Given the description of an element on the screen output the (x, y) to click on. 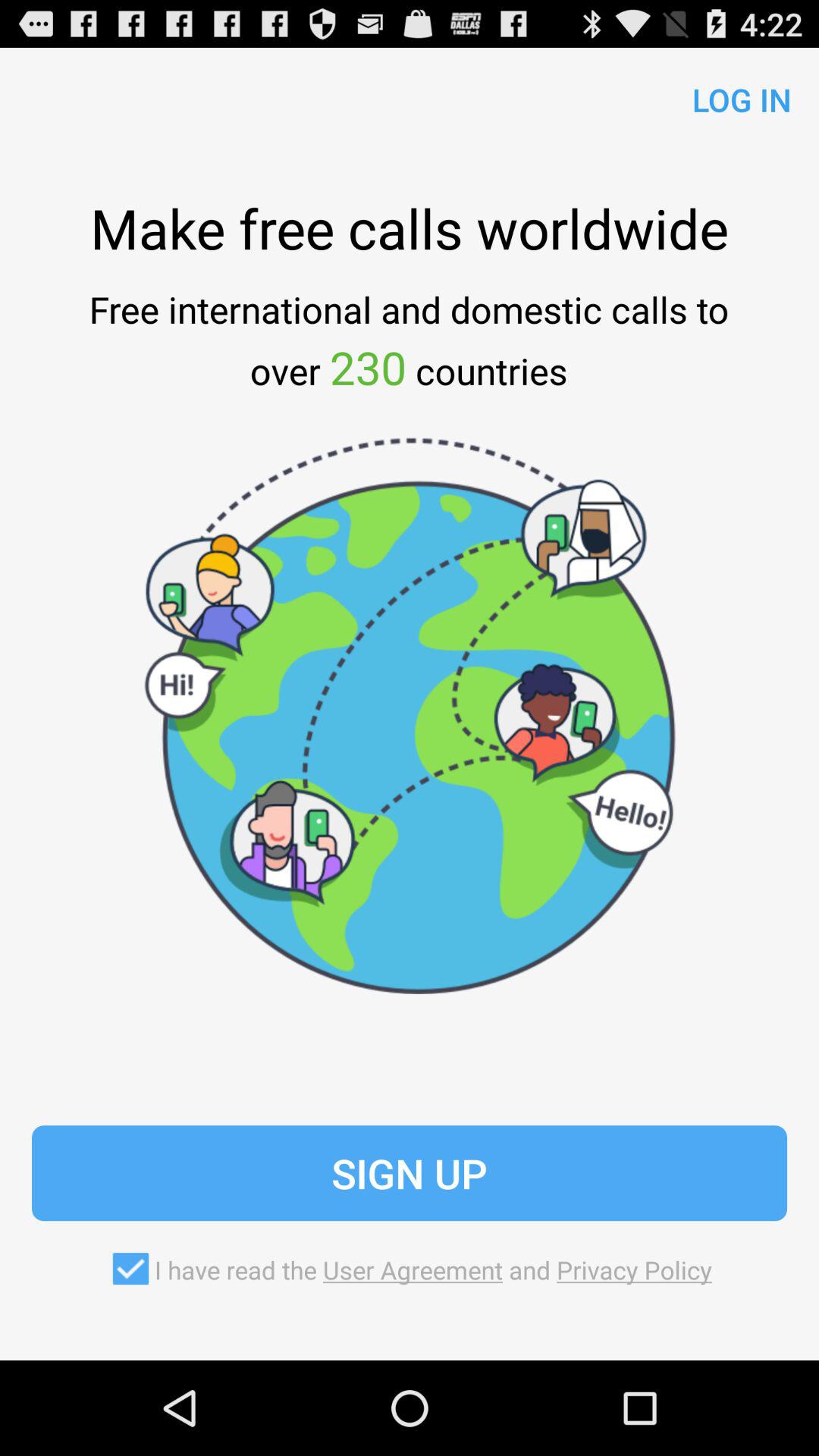
launch the log in icon (735, 96)
